Given the description of an element on the screen output the (x, y) to click on. 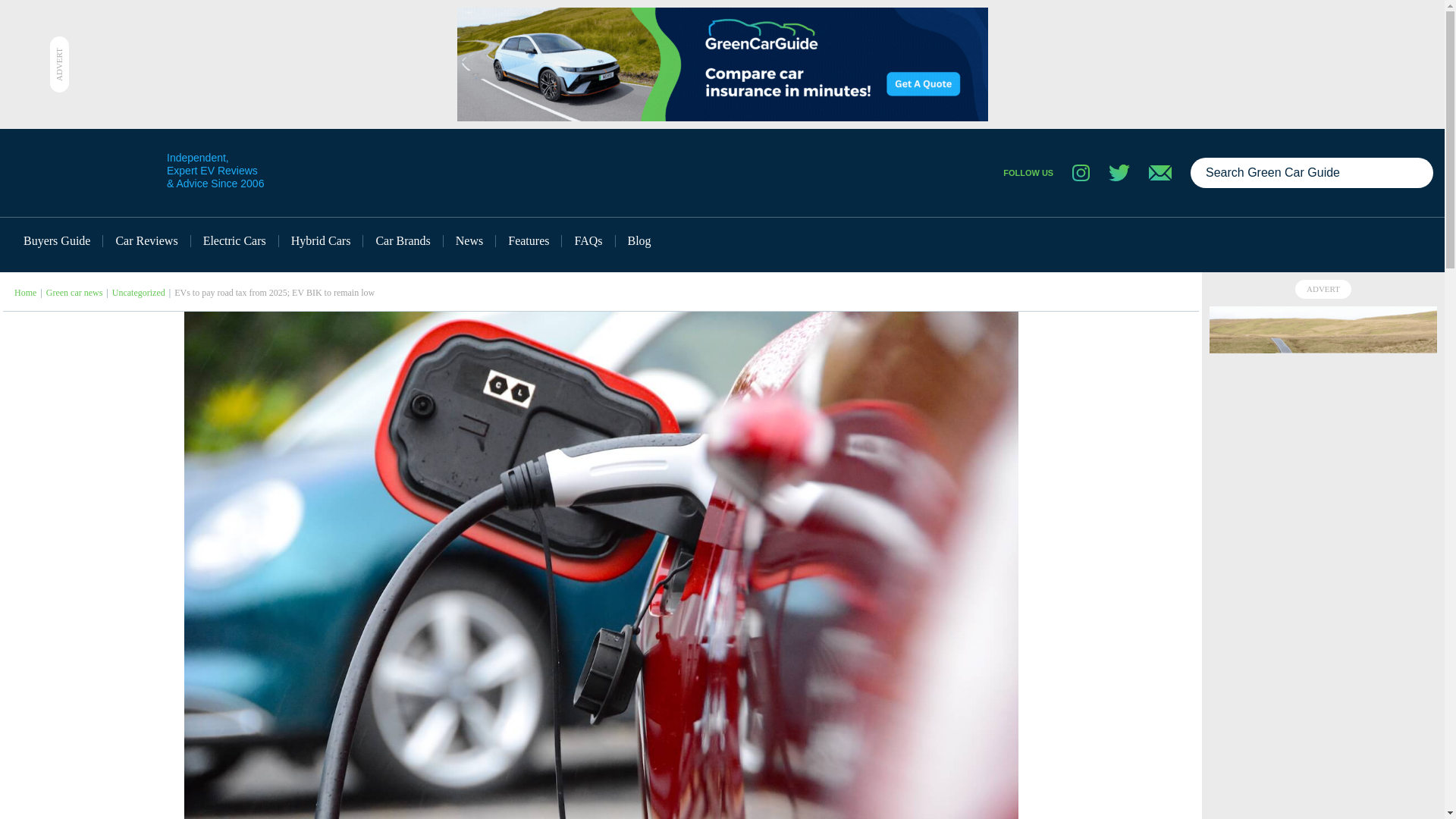
Buyers Guide (57, 241)
Electric Cars (234, 241)
Car Reviews (146, 241)
Go to Green car news. (74, 292)
Go to the Uncategorized category archives. (138, 292)
Search (1414, 173)
Search (1414, 173)
Go to GreenCarGuide.co.uk. (25, 292)
